Given the description of an element on the screen output the (x, y) to click on. 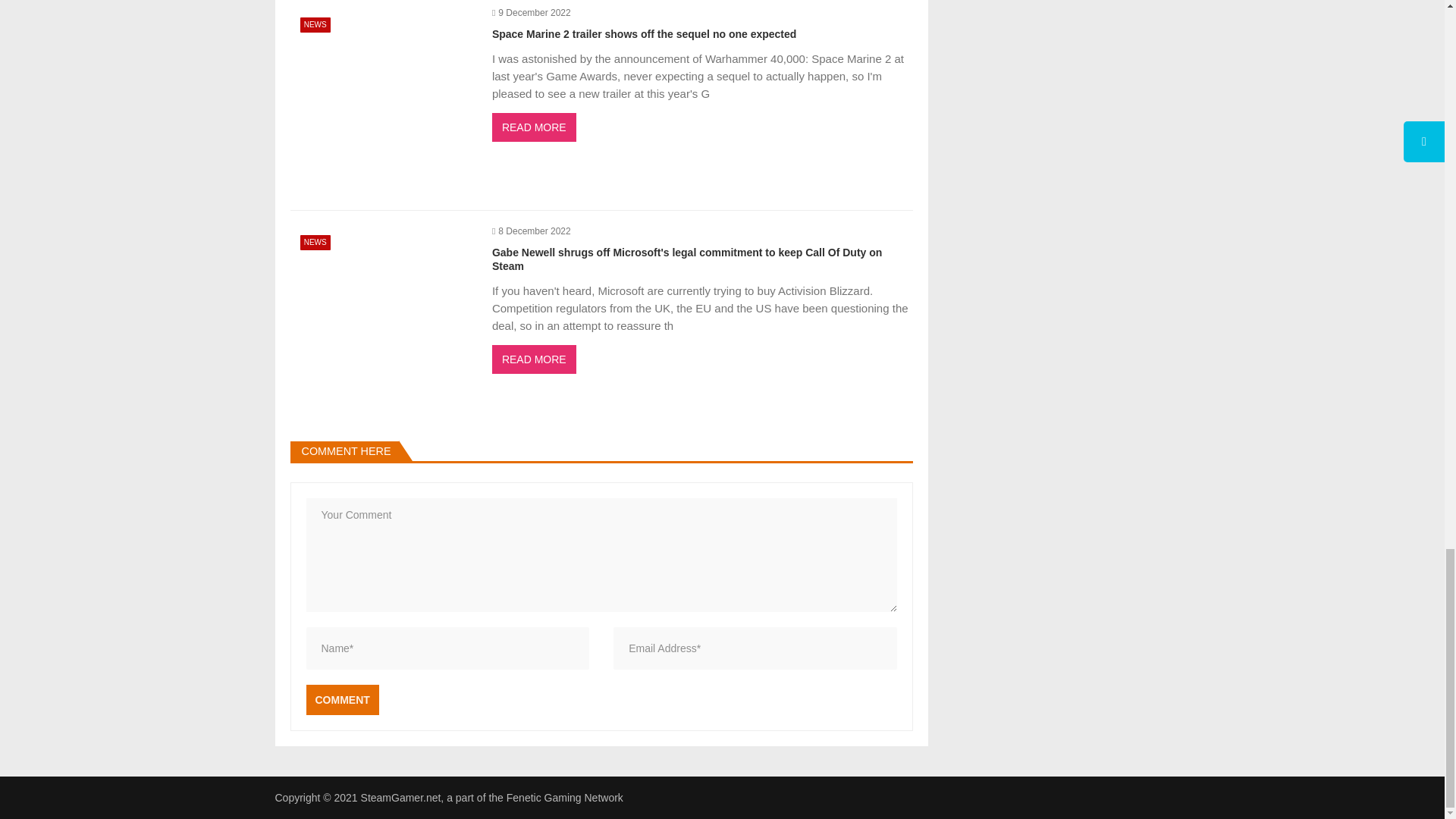
Comment (341, 699)
